Given the description of an element on the screen output the (x, y) to click on. 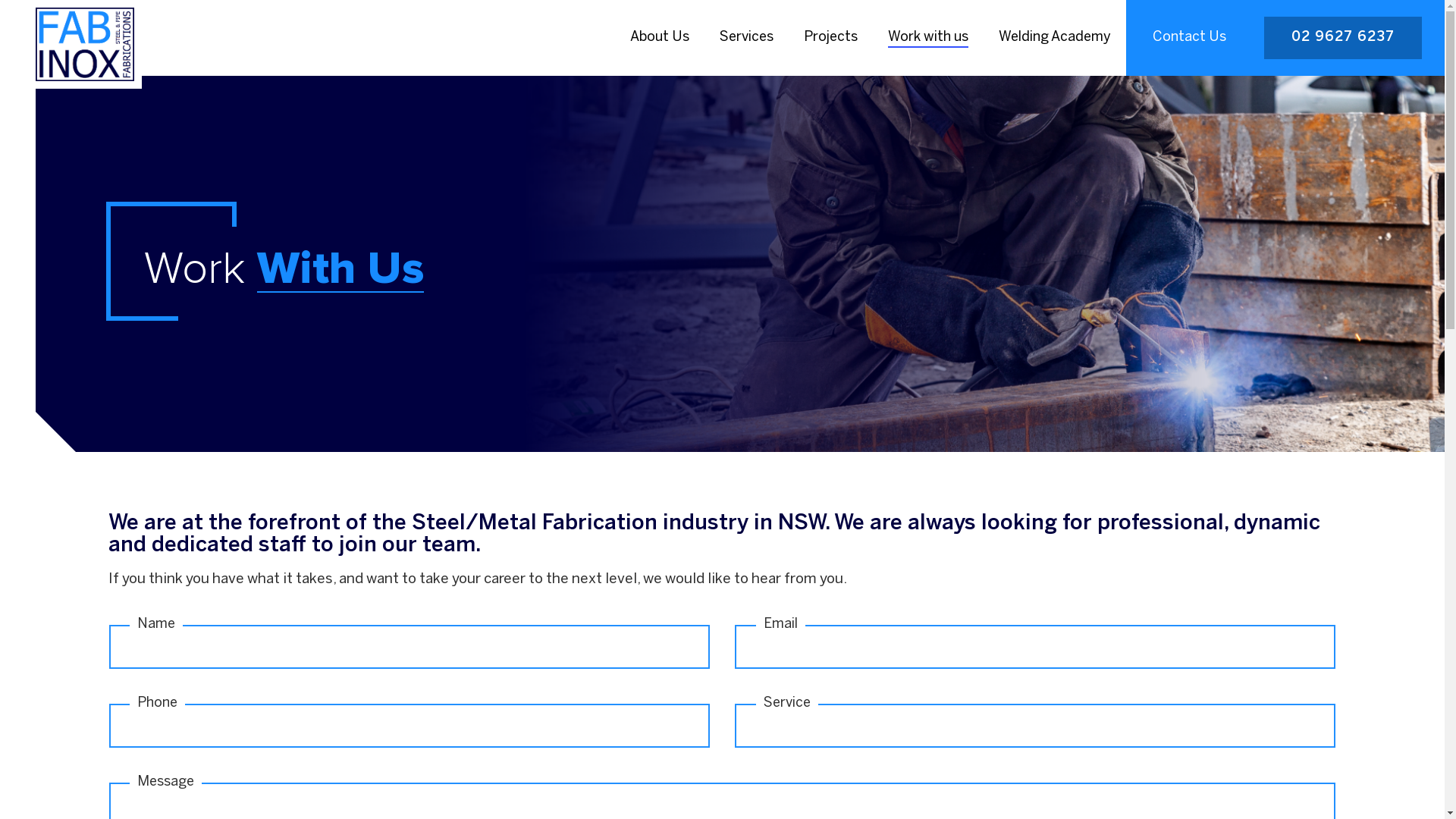
Work with us Element type: text (928, 37)
Welding Academy Element type: text (1054, 37)
02 9627 6237 Element type: text (1342, 37)
About Us Element type: text (659, 37)
Contact Us Element type: text (1189, 37)
Services Element type: text (746, 37)
Projects Element type: text (830, 37)
